Given the description of an element on the screen output the (x, y) to click on. 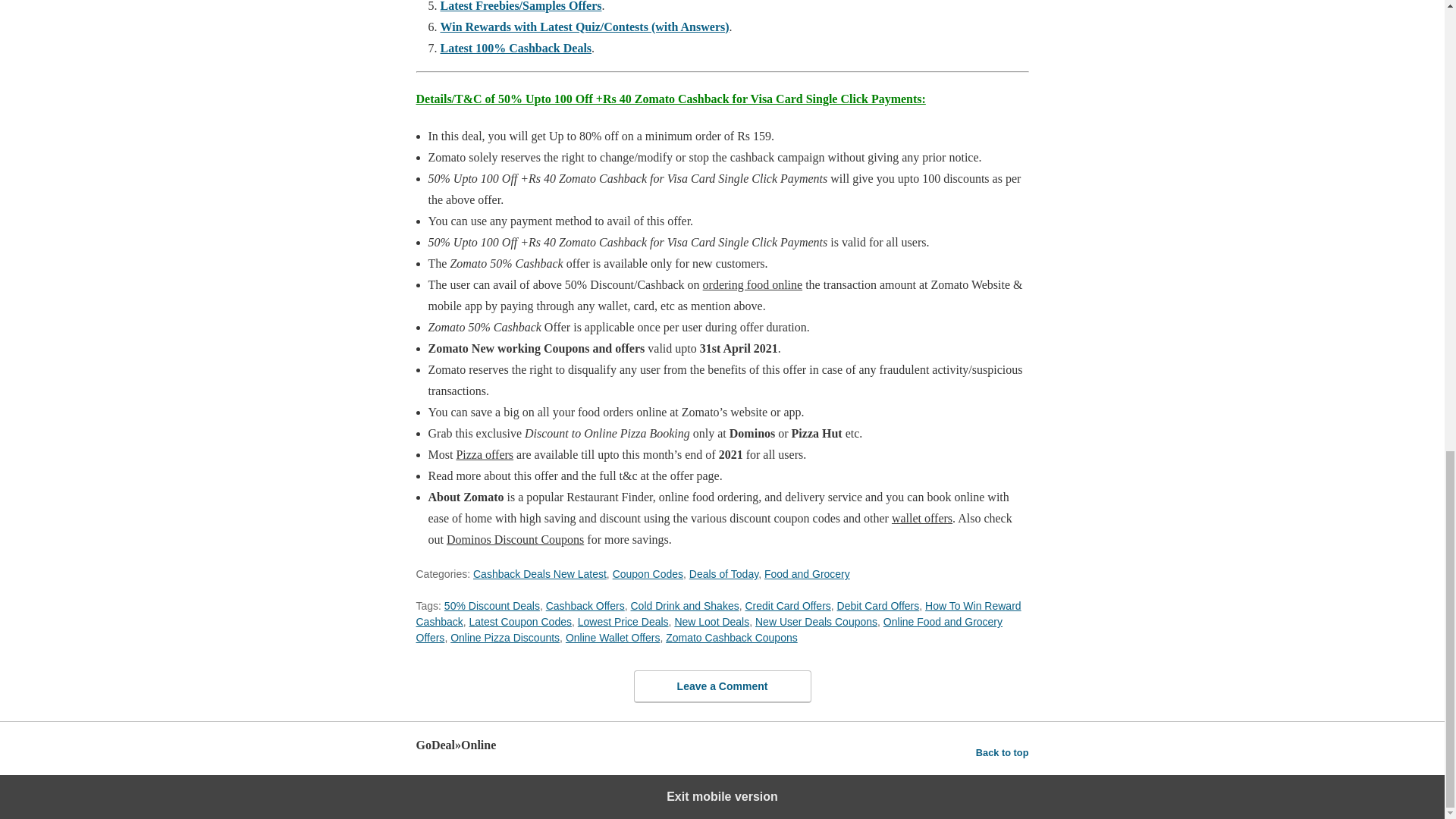
Cashback Deals New Latest (540, 573)
How To Win Reward Cashback (717, 613)
Lowest Price Deals (623, 621)
New Loot Deals (711, 621)
Zomato Cashback Coupons (731, 637)
Online Wallet Offers (613, 637)
Leave a Comment (721, 686)
Coupon Codes (647, 573)
Back to top (1002, 752)
Online Pizza Discounts (504, 637)
Cashback Offers (585, 605)
Credit Card Offers (786, 605)
New User Deals Coupons (816, 621)
Latest Coupon Codes (520, 621)
Food and Grocery (807, 573)
